Given the description of an element on the screen output the (x, y) to click on. 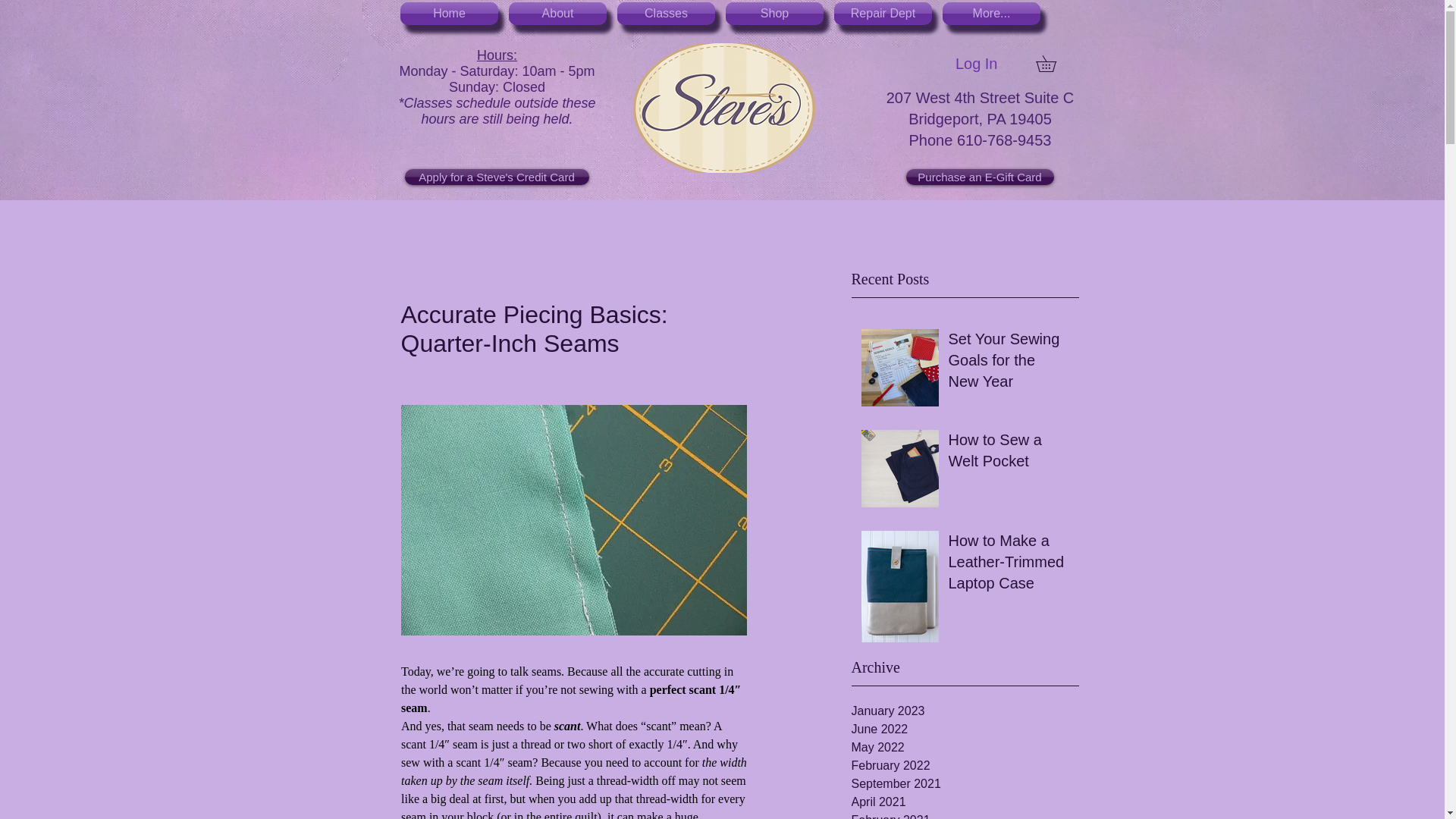
Shop (774, 13)
Home (448, 13)
Apply for a Steve's Credit Card (496, 176)
Repair Dept (882, 13)
About (557, 13)
Log In (976, 63)
Classes (665, 13)
